Given the description of an element on the screen output the (x, y) to click on. 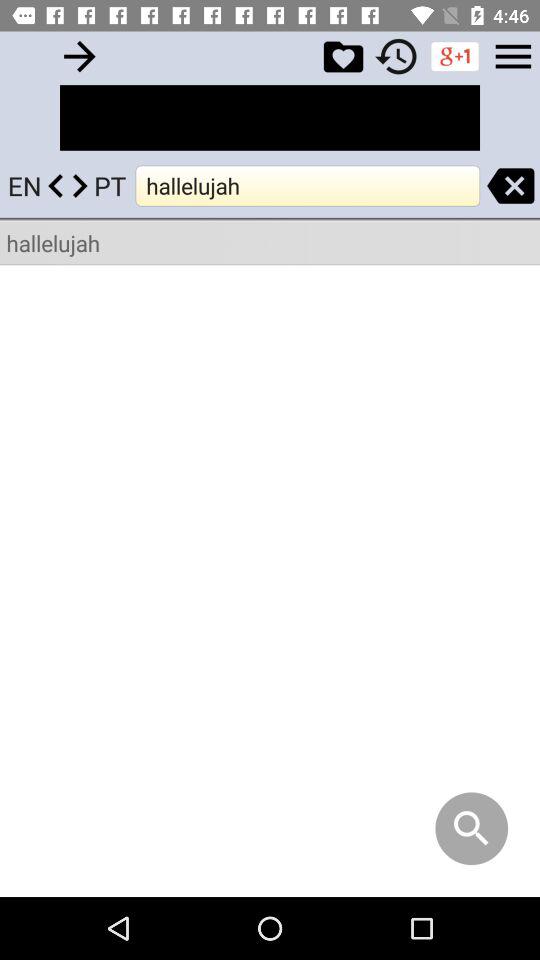
menu bar button (513, 56)
